Given the description of an element on the screen output the (x, y) to click on. 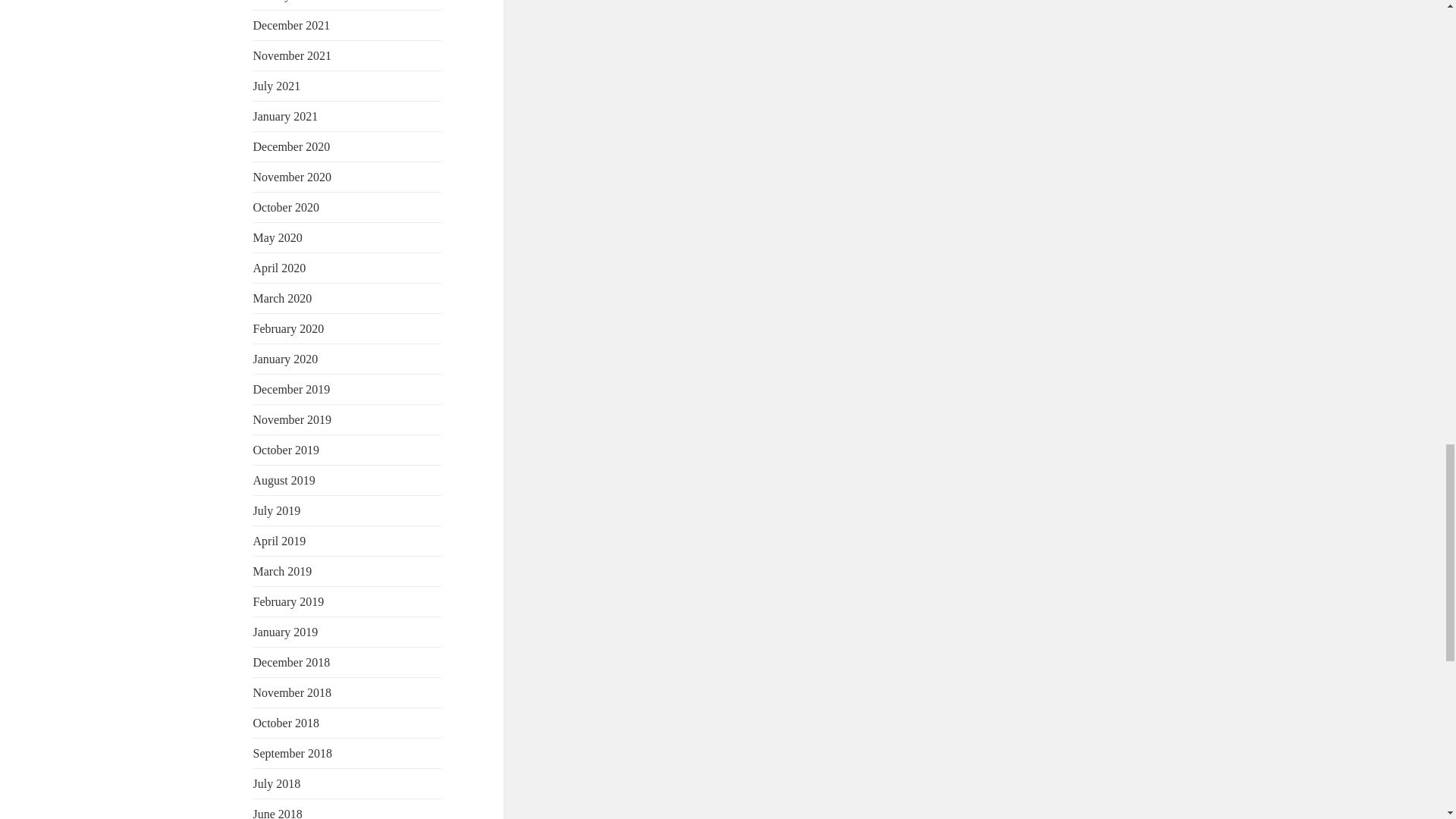
November 2021 (292, 55)
January 2022 (285, 0)
December 2021 (291, 24)
